Given the description of an element on the screen output the (x, y) to click on. 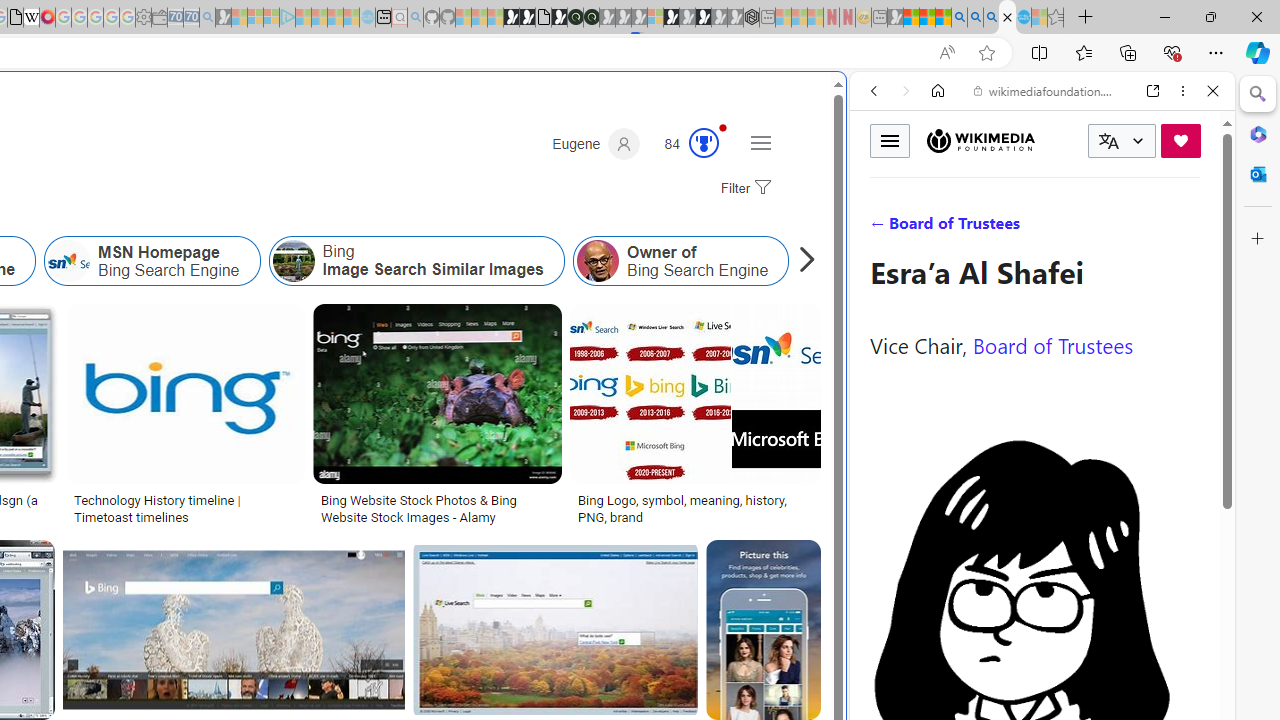
Wikimedia Foundation (980, 140)
Technology History timeline | Timetoast timelinesSave (189, 417)
Bing Image Search Similar Images (416, 260)
Https Bing Search Q MSN (889, 260)
Tabs you've opened (276, 265)
Future Focus Report 2024 (591, 17)
Toggle menu (890, 140)
Donate now (1180, 140)
